Given the description of an element on the screen output the (x, y) to click on. 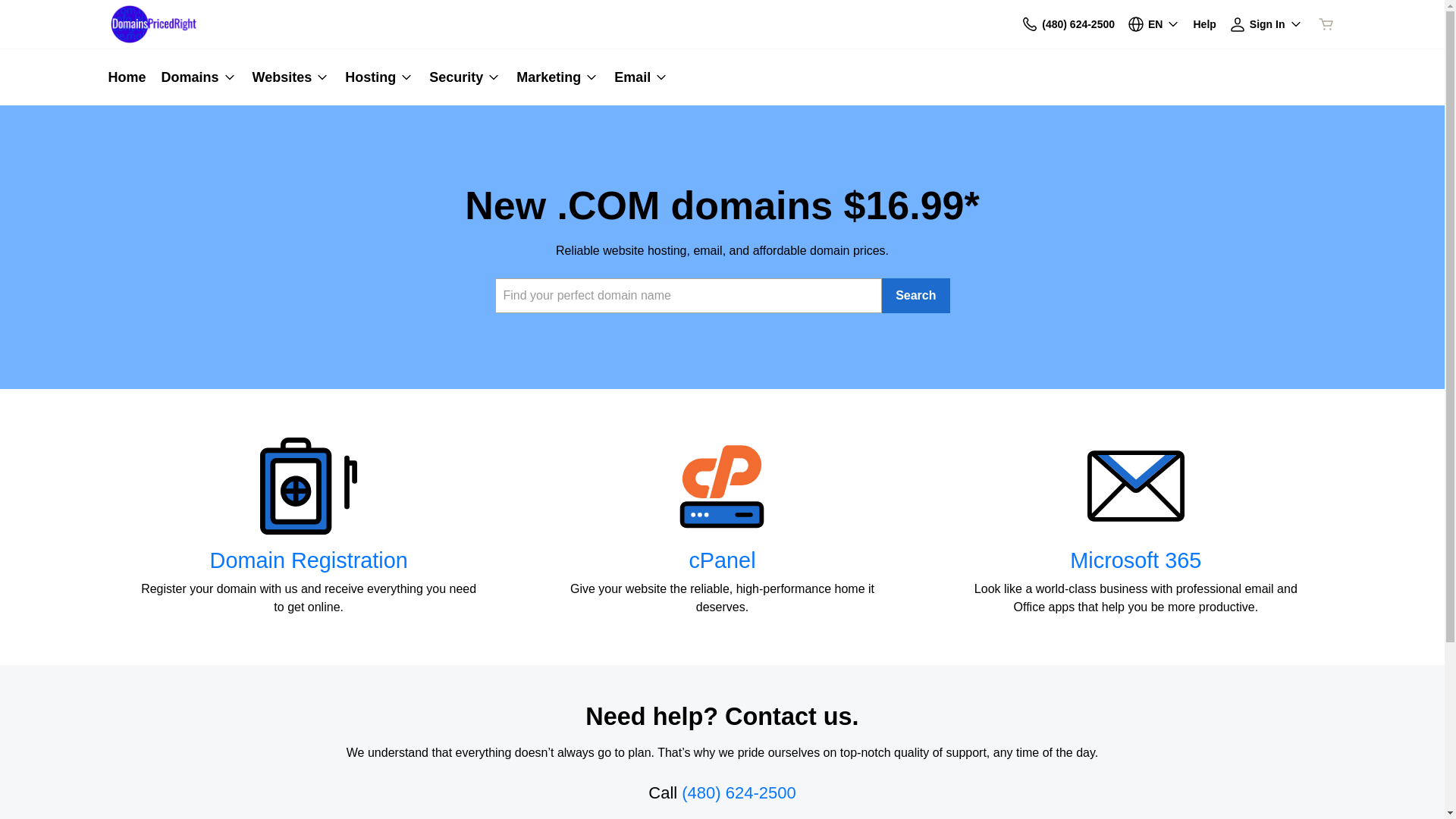
Help Element type: text (1203, 24)
EN Element type: text (1153, 24)
Security Element type: text (464, 77)
Domains Element type: text (198, 77)
Websites Element type: text (291, 77)
(480) 624-2500 Element type: text (738, 792)
Home Element type: text (130, 77)
(480) 624-2500 Element type: text (1067, 24)
Sign In Element type: text (1265, 24)
Search Element type: text (915, 295)
Microsoft 365 Element type: text (1135, 560)
Domain Registration Element type: text (308, 560)
Marketing Element type: text (557, 77)
Hosting Element type: text (379, 77)
Contact Us Element type: hover (1029, 24)
Email Element type: text (637, 77)
cPanel Element type: text (721, 560)
